Given the description of an element on the screen output the (x, y) to click on. 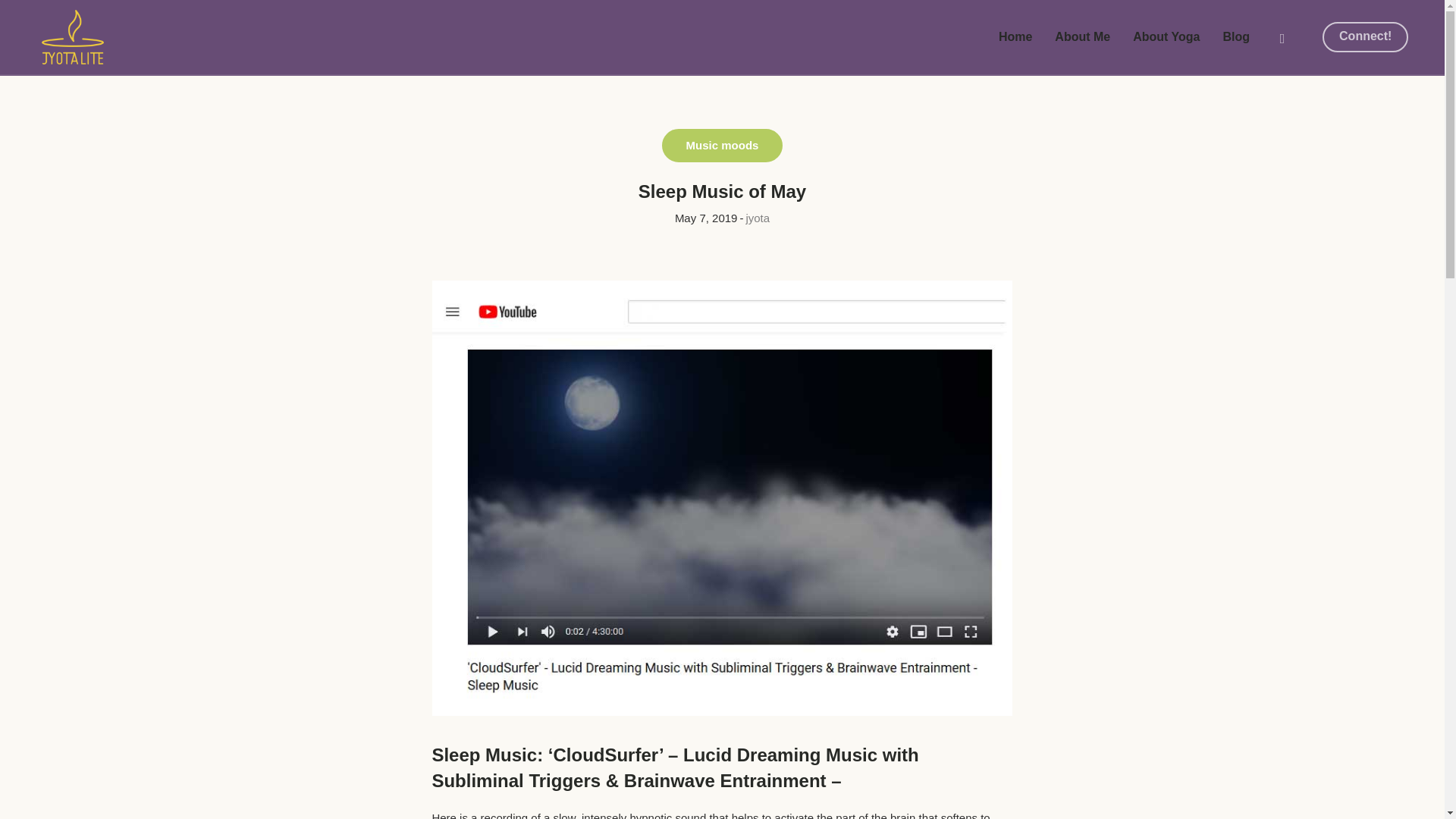
Sleep Music of May (722, 496)
Music moods (721, 145)
Connect! (1364, 37)
Blog (1236, 37)
jyota (757, 217)
Home (1015, 37)
About Yoga (1166, 37)
May 7, 2019 (706, 218)
About Me (1082, 37)
